Given the description of an element on the screen output the (x, y) to click on. 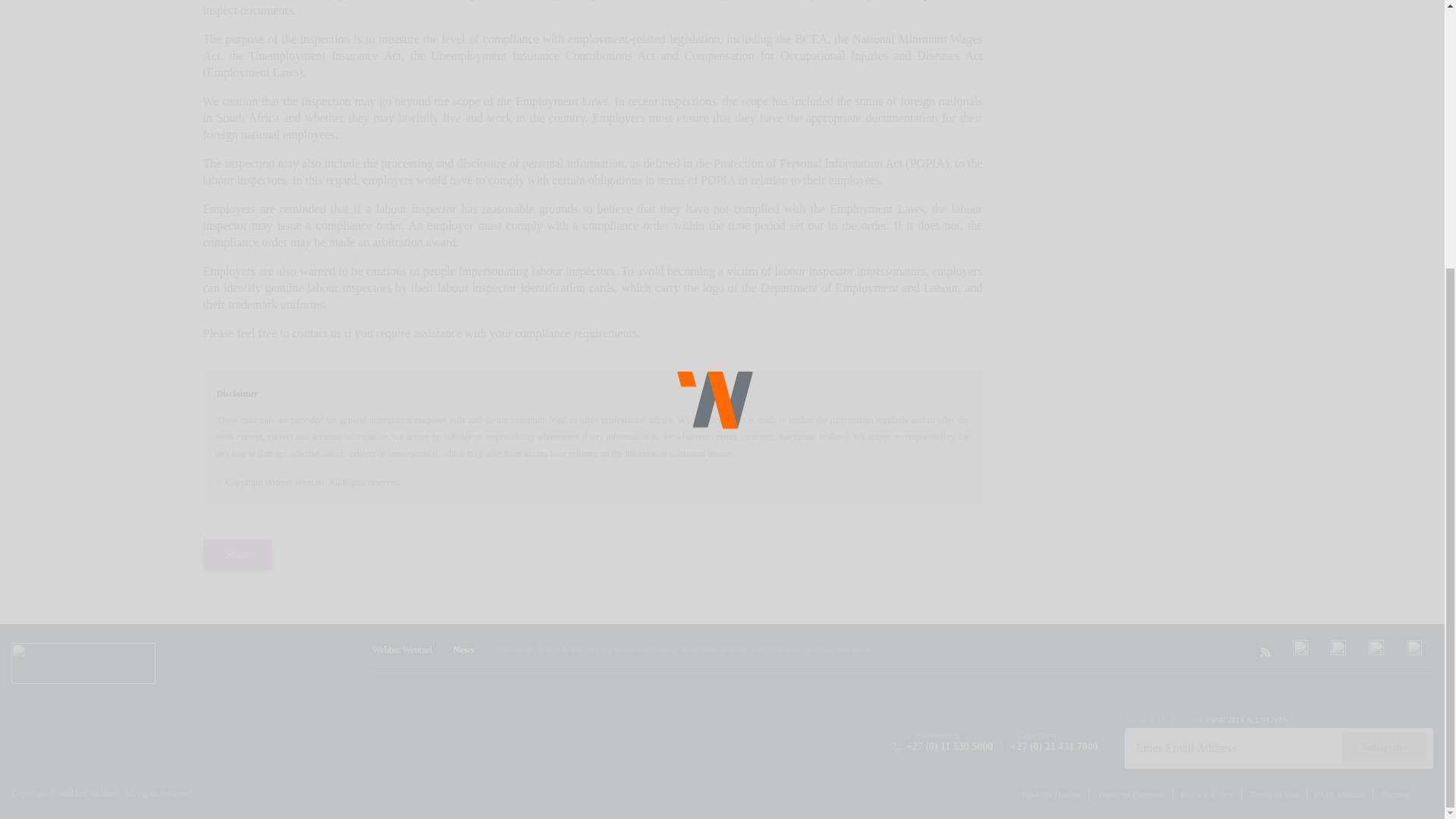
News (463, 649)
Home (402, 649)
